Given the description of an element on the screen output the (x, y) to click on. 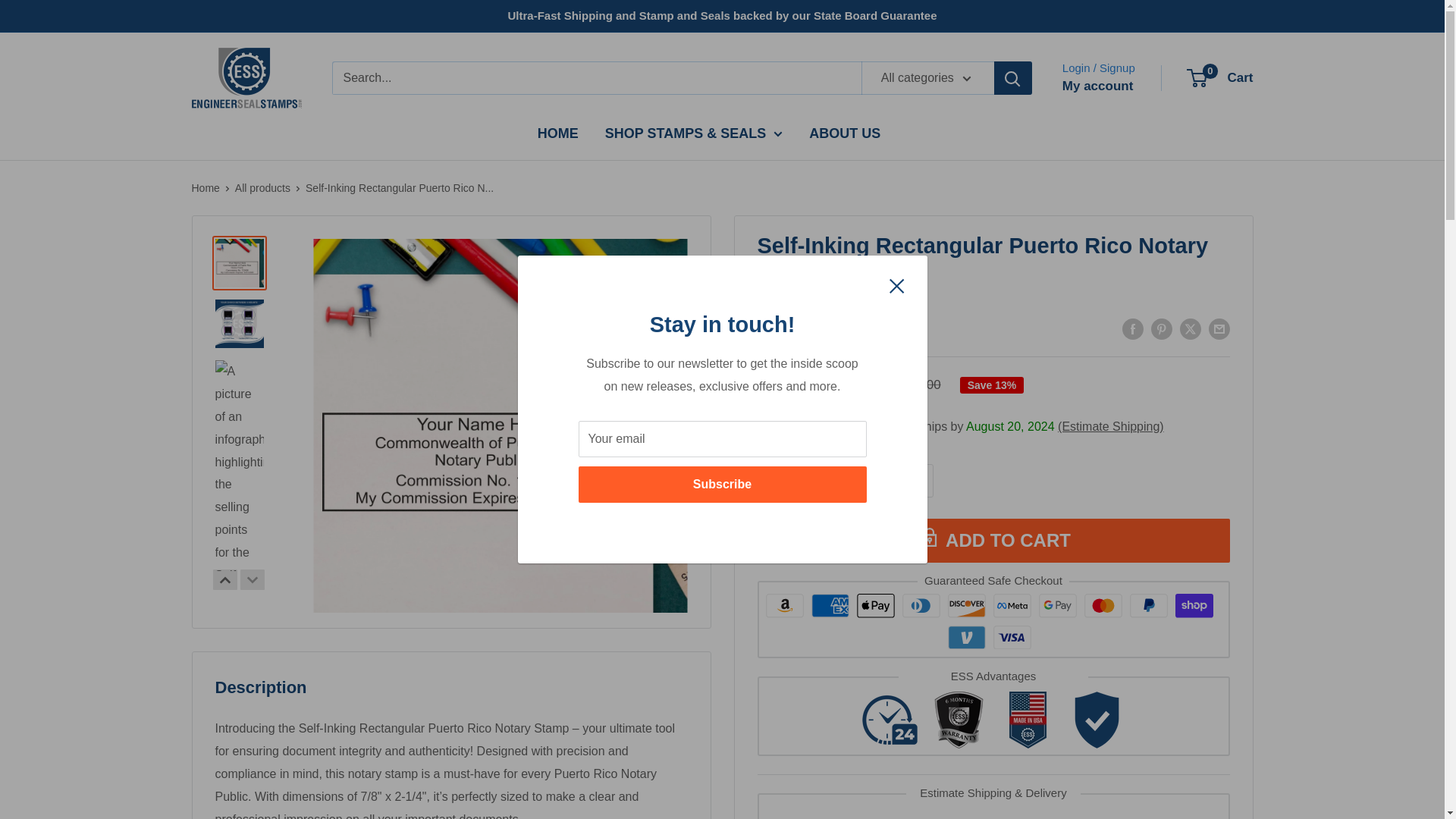
Increase quantity by 1 (917, 480)
American Express (829, 605)
Amazon (784, 605)
1 (876, 480)
Decrease quantity by 1 (836, 480)
